Given the description of an element on the screen output the (x, y) to click on. 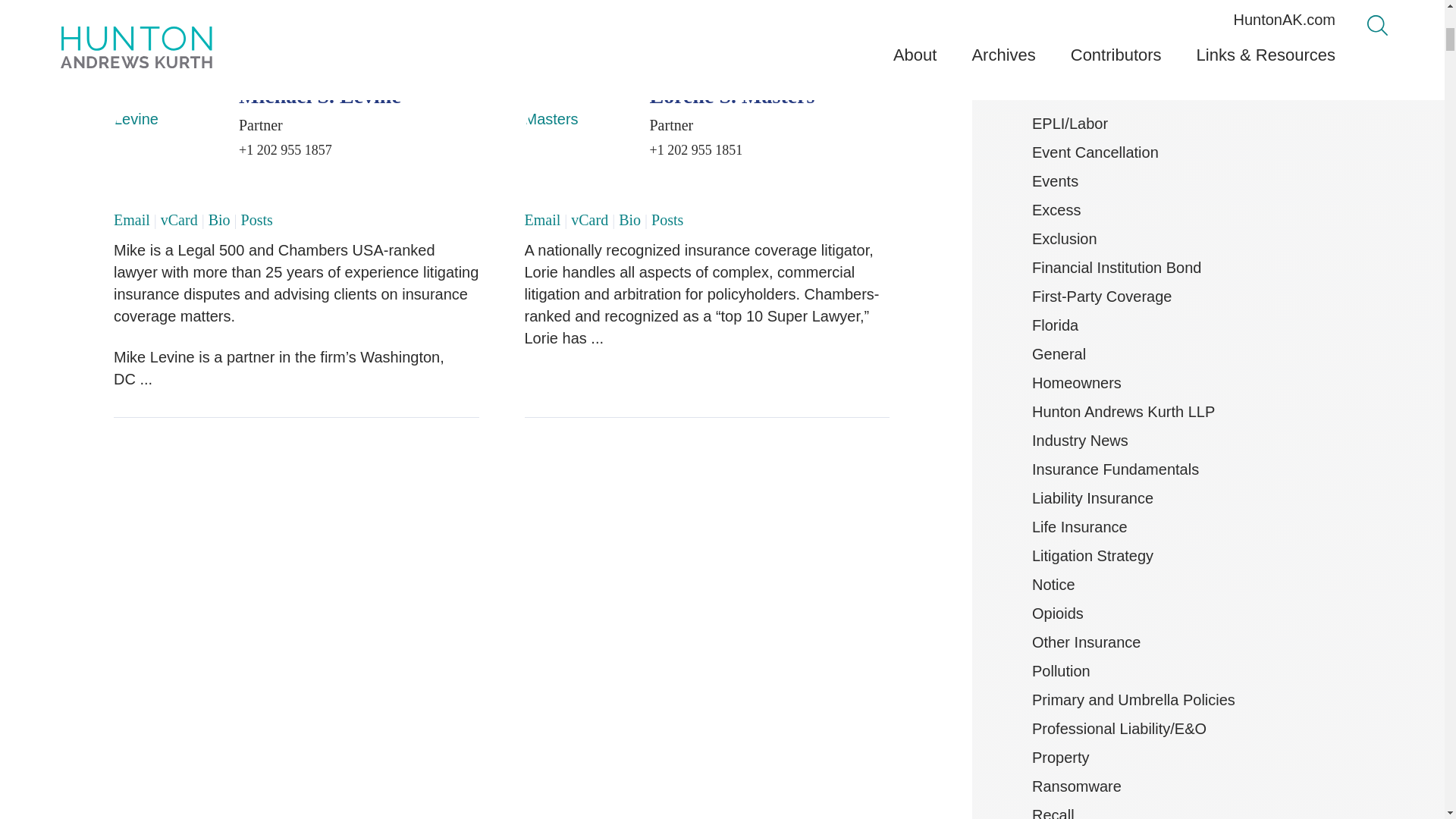
Michael S. Levine (319, 95)
Print (791, 19)
Linkedin (863, 20)
vCard (179, 219)
Facebook (882, 20)
Print (788, 20)
Bio (219, 219)
Linkedin (866, 19)
Email (131, 219)
Email (815, 20)
